Given the description of an element on the screen output the (x, y) to click on. 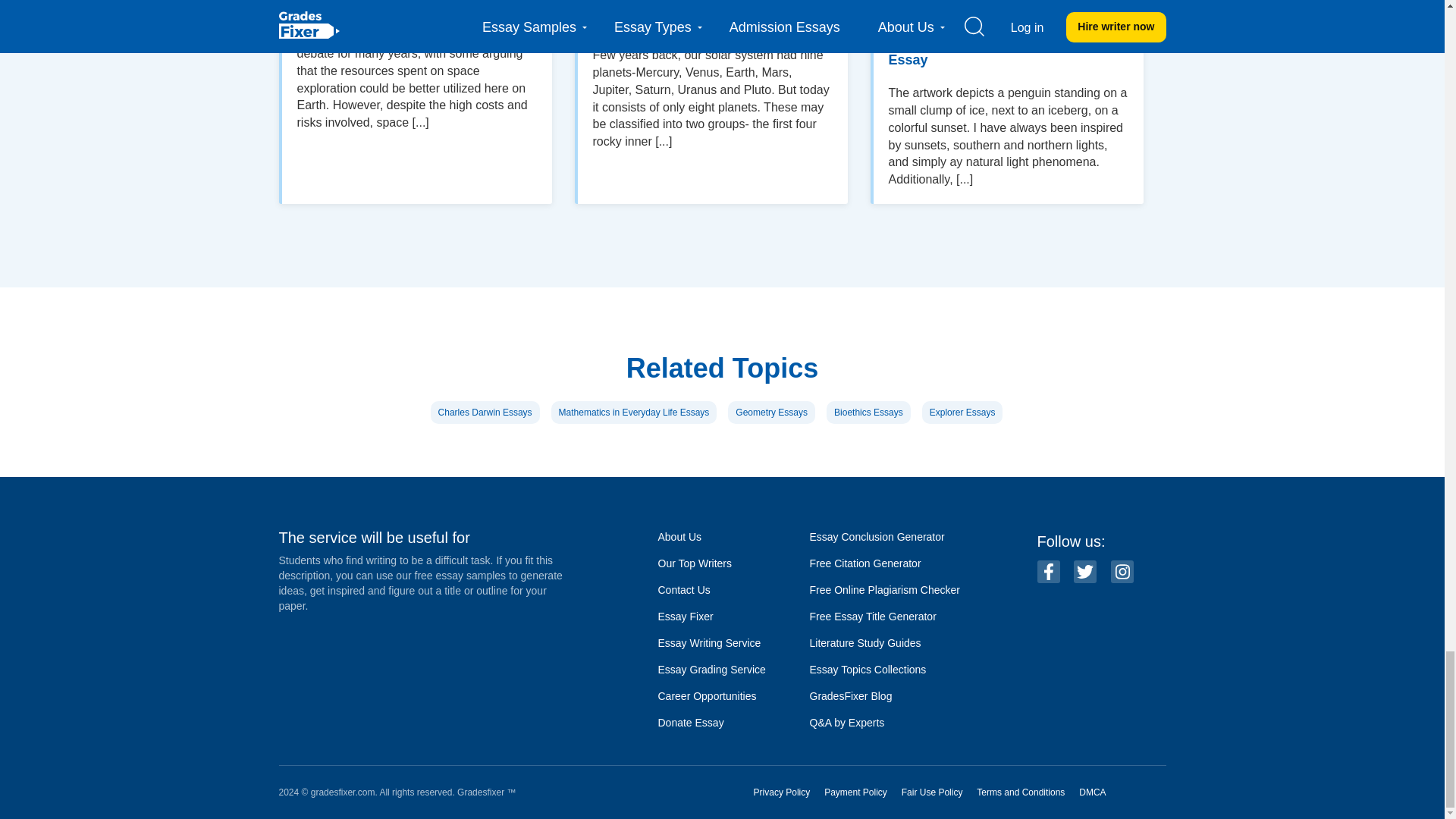
DMCA.com Protection Status (1143, 792)
